Given the description of an element on the screen output the (x, y) to click on. 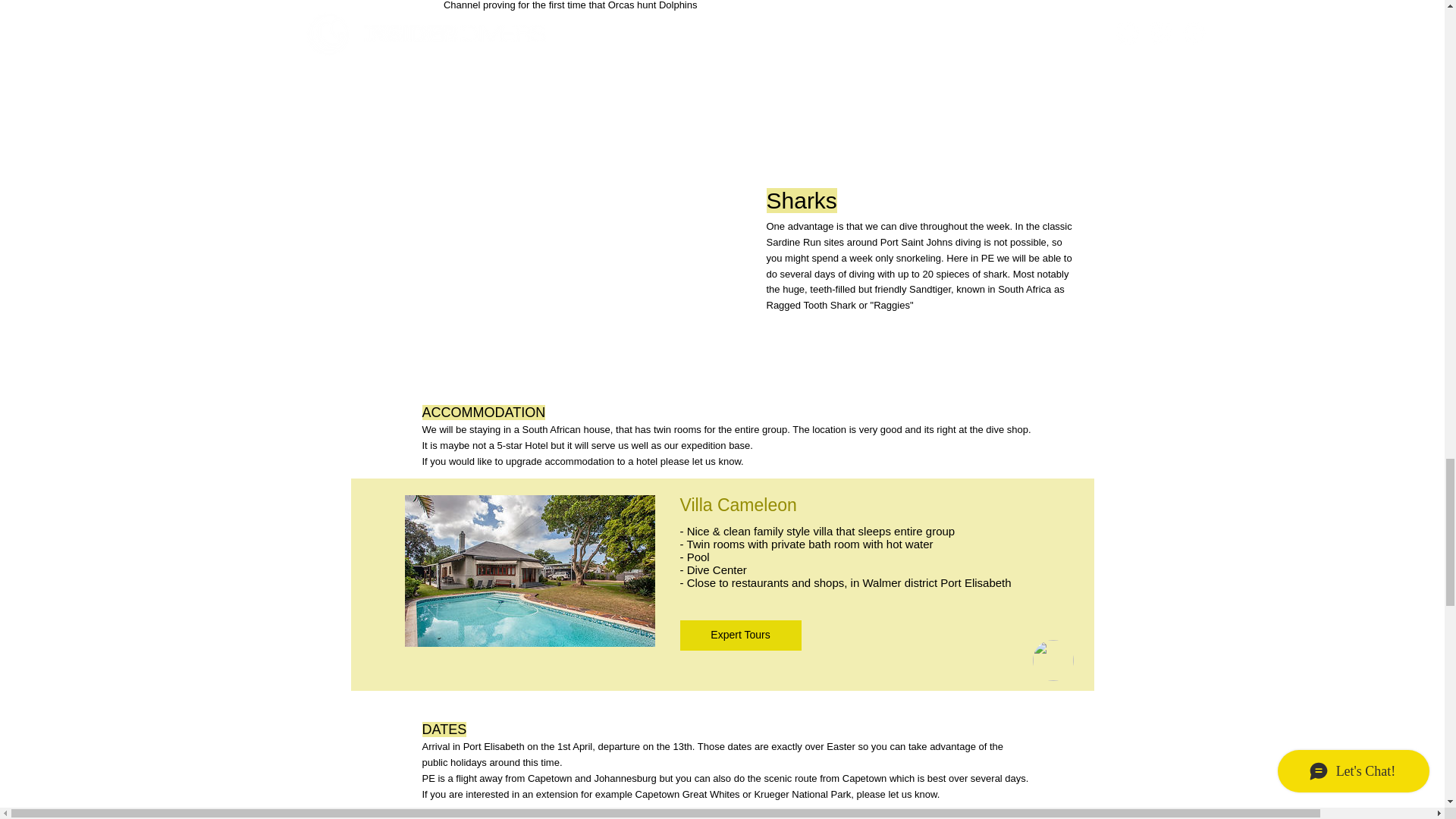
Expert Tours (739, 634)
External YouTube (874, 72)
External YouTube (588, 282)
